Given the description of an element on the screen output the (x, y) to click on. 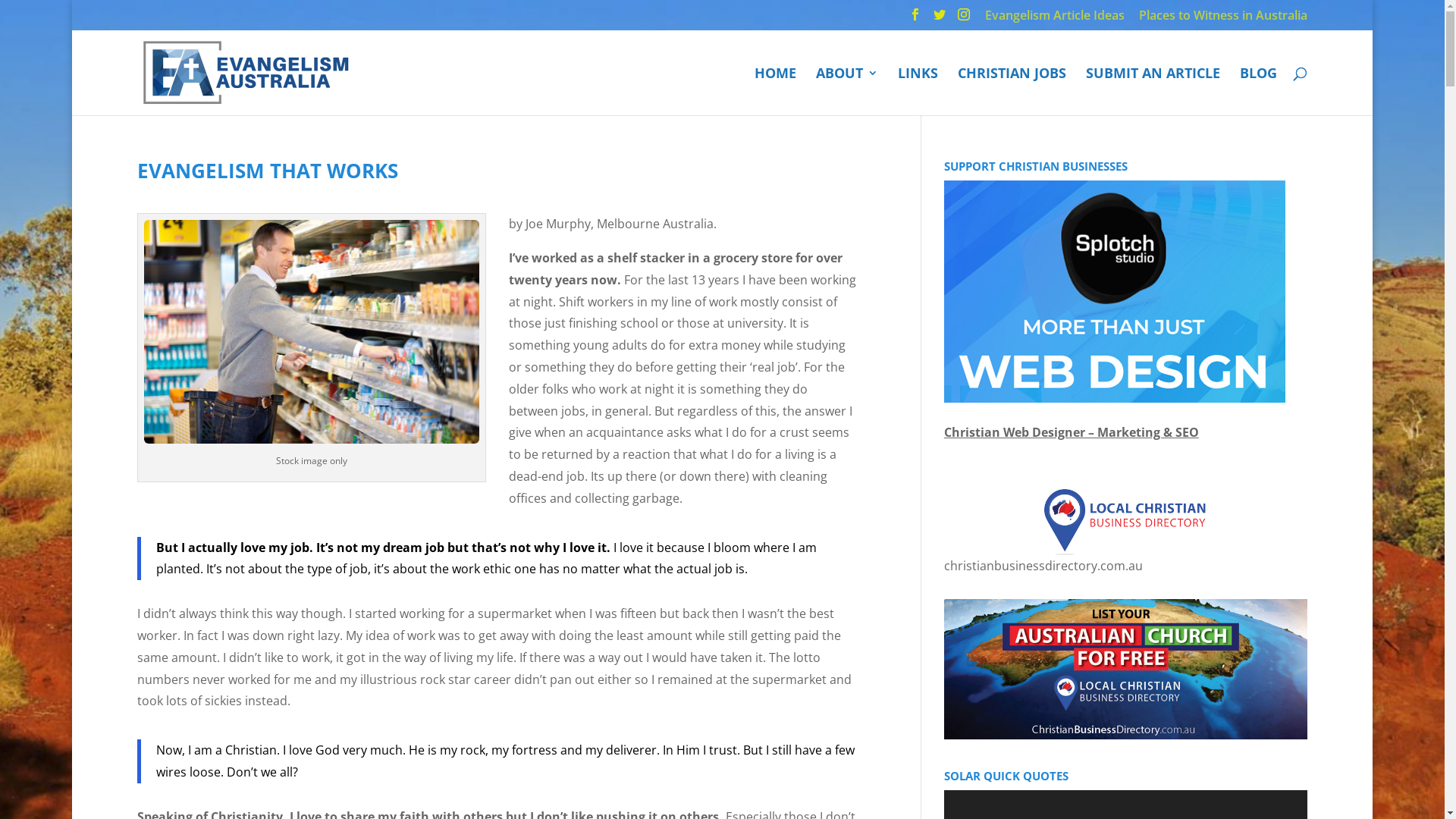
BLOG Element type: text (1258, 91)
Evangelism Article Ideas Element type: text (1054, 19)
Places to Witness in Australia Element type: text (1223, 19)
CHRISTIAN JOBS Element type: text (1011, 91)
ABOUT Element type: text (846, 91)
HOME Element type: text (775, 91)
LINKS Element type: text (917, 91)
SUBMIT AN ARTICLE Element type: text (1152, 91)
christianbusinessdirectory.com.au Element type: text (1125, 531)
